Given the description of an element on the screen output the (x, y) to click on. 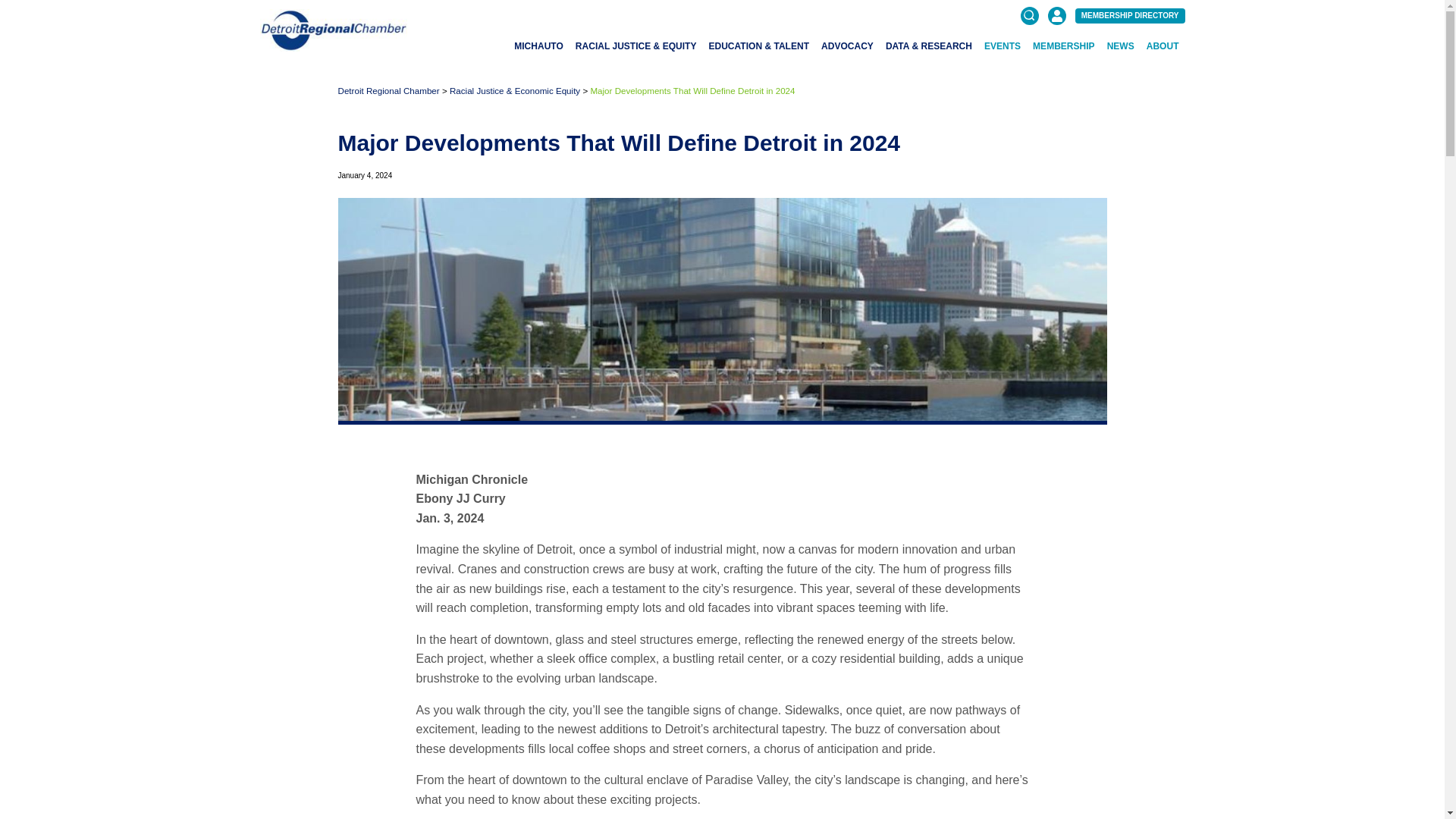
Go to Detroit Regional Chamber. (388, 90)
MICHAUTO (538, 45)
MEMBERSHIP DIRECTORY (1130, 15)
Search (1172, 84)
